Given the description of an element on the screen output the (x, y) to click on. 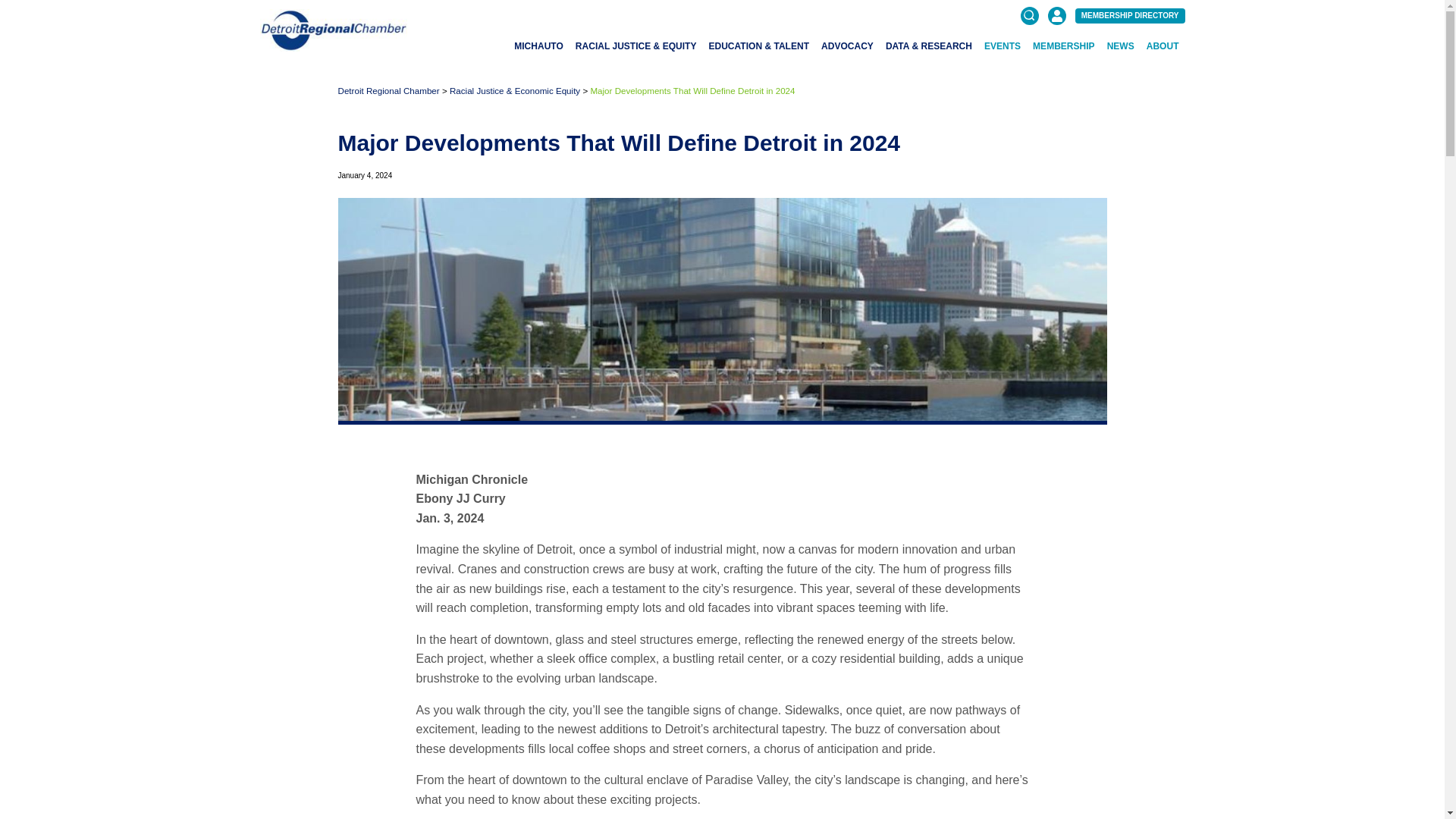
Go to Detroit Regional Chamber. (388, 90)
MICHAUTO (538, 45)
MEMBERSHIP DIRECTORY (1130, 15)
Search (1172, 84)
